Given the description of an element on the screen output the (x, y) to click on. 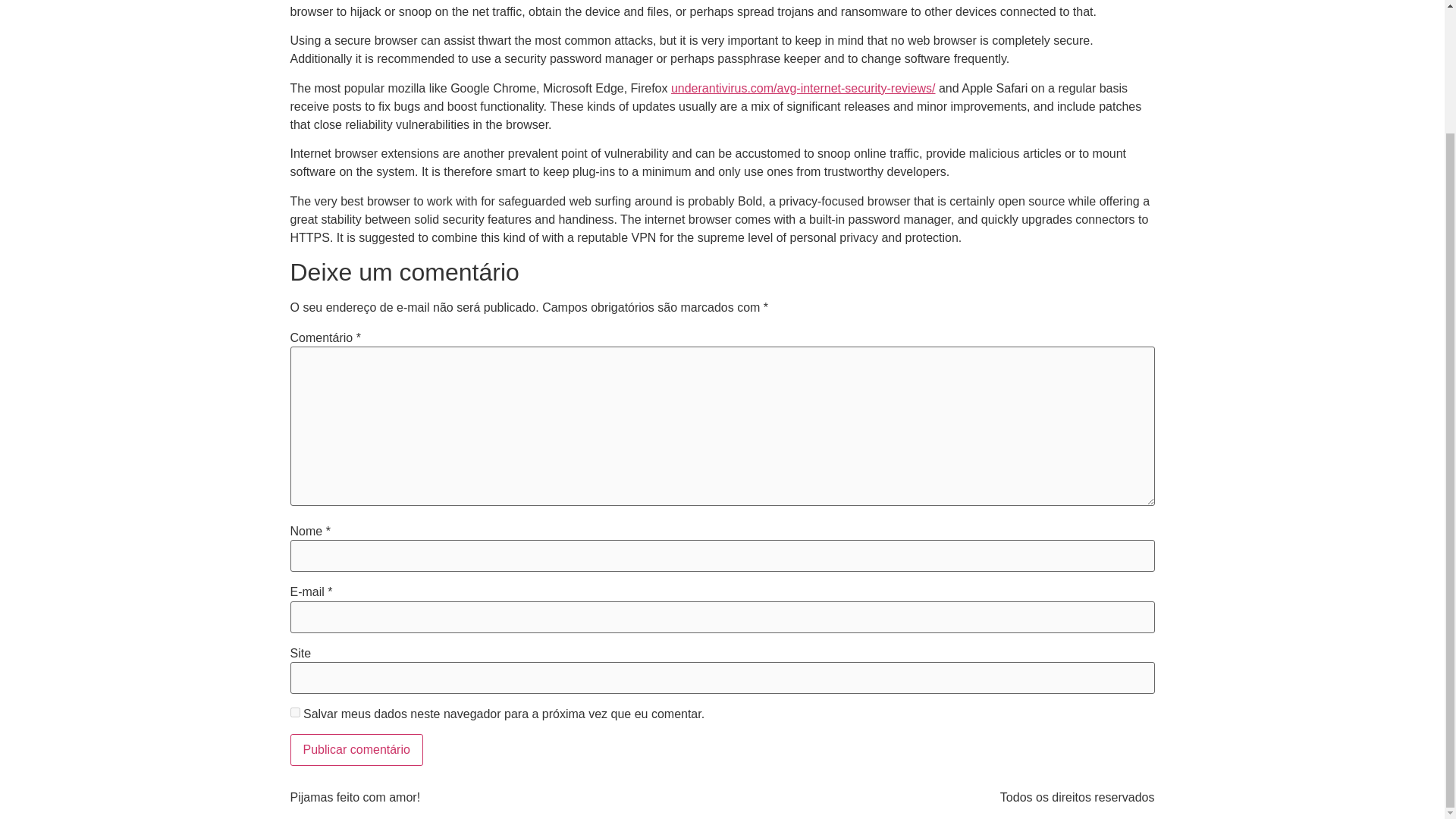
yes (294, 712)
